Given the description of an element on the screen output the (x, y) to click on. 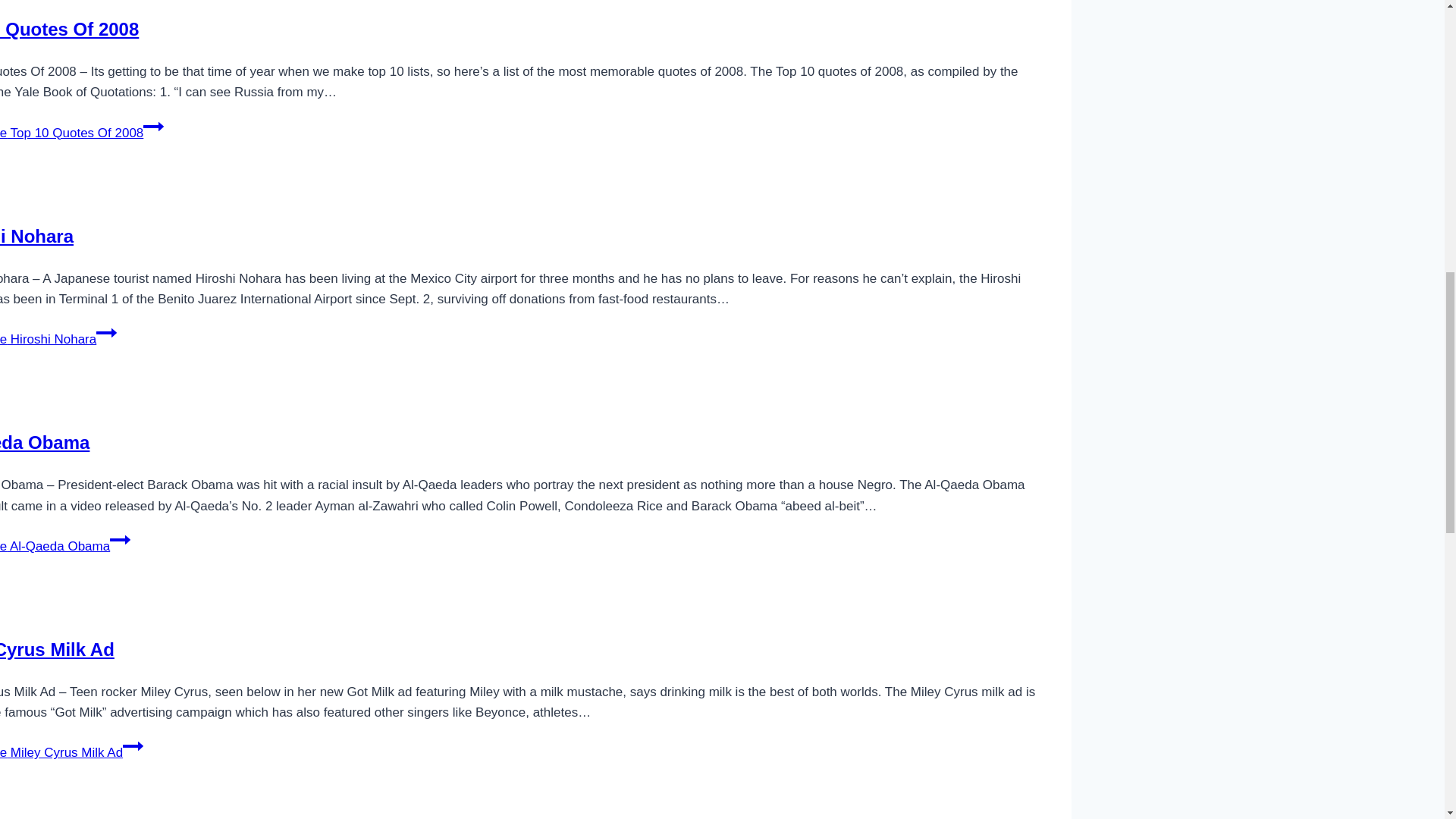
Al-Qaeda Obama (44, 442)
Continue (152, 126)
Read More Miley Cyrus Milk AdContinue (71, 752)
Continue (132, 745)
Miley Cyrus Milk Ad (57, 649)
Continue (120, 539)
Hiroshi Nohara (37, 236)
Continue (106, 332)
Top 10 Quotes Of 2008 (69, 28)
Read More Hiroshi NoharaContinue (58, 339)
